Given the description of an element on the screen output the (x, y) to click on. 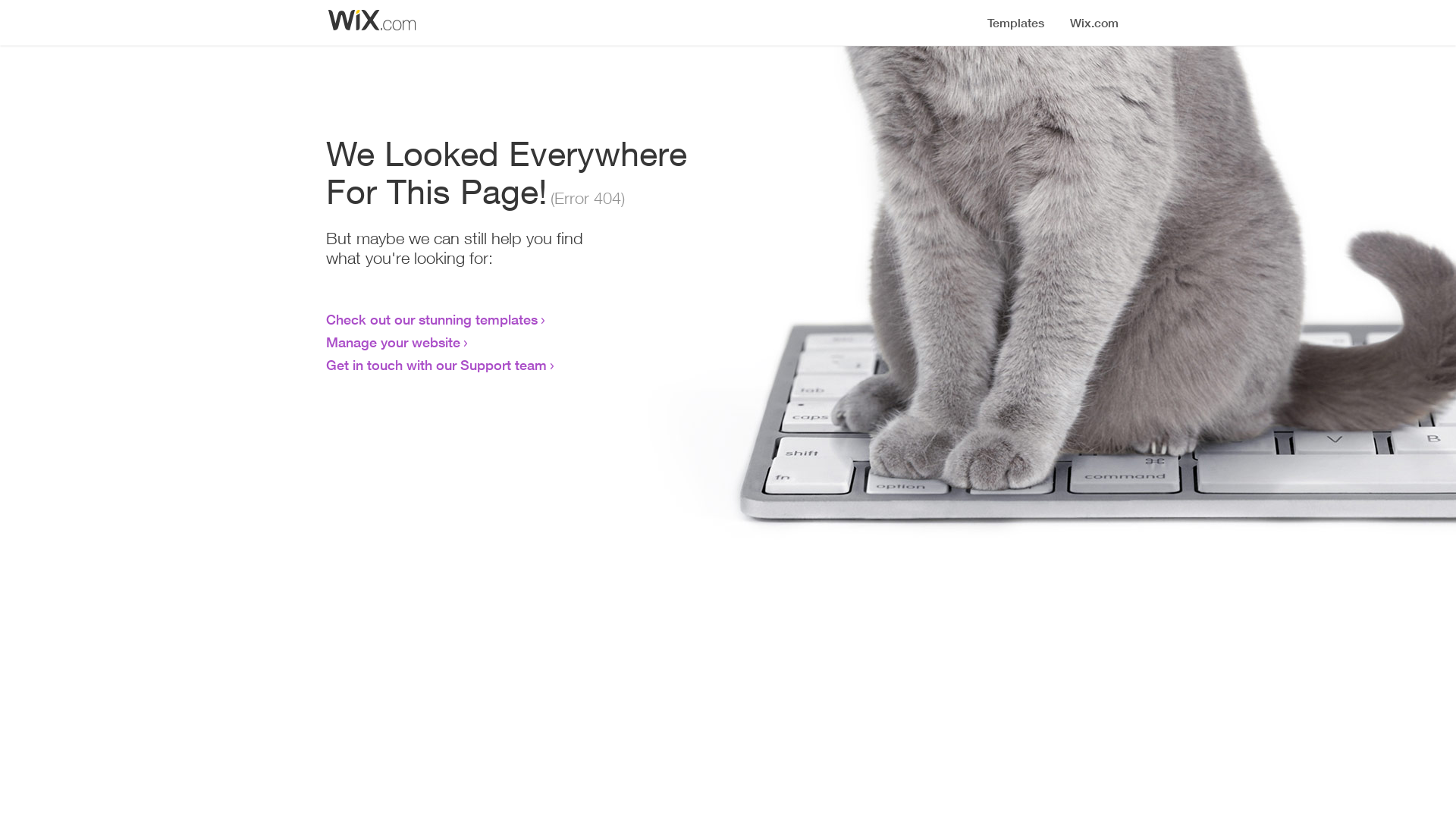
Manage your website Element type: text (393, 341)
Get in touch with our Support team Element type: text (436, 364)
Check out our stunning templates Element type: text (431, 318)
